Given the description of an element on the screen output the (x, y) to click on. 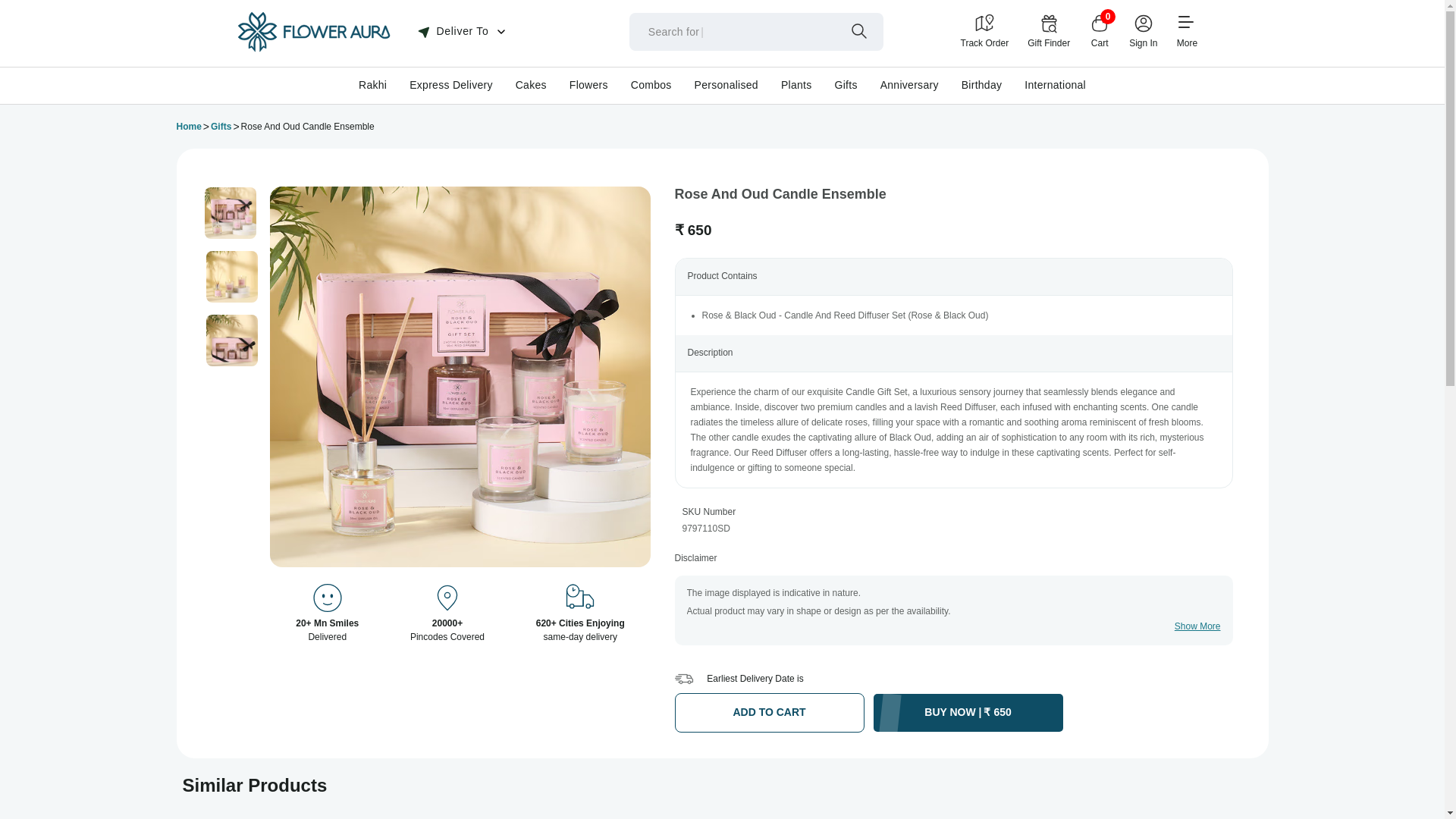
Rose And Oud Candle Ensemble (231, 276)
Rose And Oud Candle Ensemble (230, 213)
Home (188, 127)
Track Order (984, 31)
Track Order (984, 31)
Rose And Oud Candle Ensemble (231, 340)
Rakhi (372, 84)
Delivered (327, 599)
Delivered (447, 599)
Gifts (221, 127)
